Given the description of an element on the screen output the (x, y) to click on. 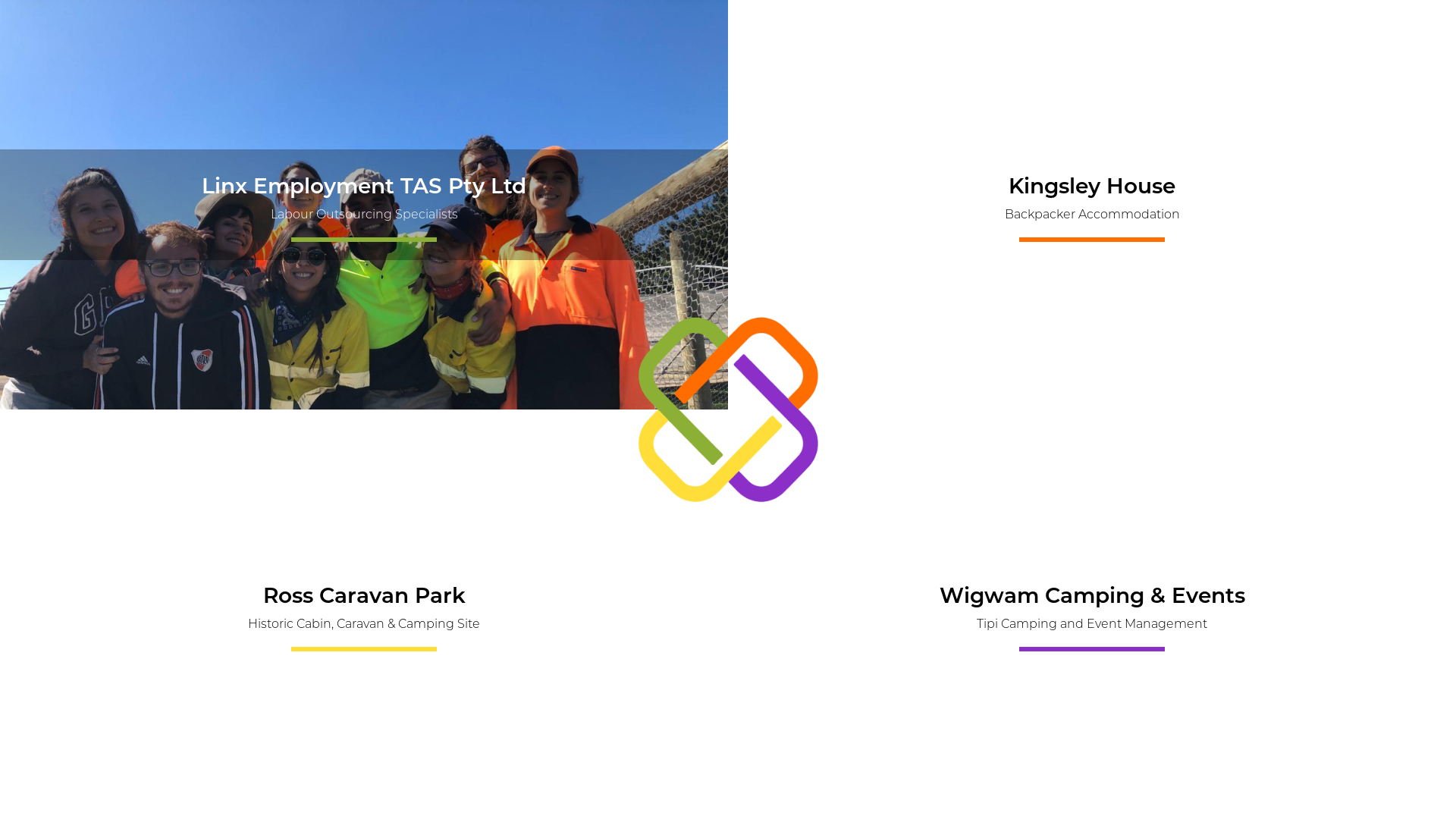
Linx Employment TAS Pty Ltd
Labour Outsourcing Specialists Element type: text (364, 204)
